Given the description of an element on the screen output the (x, y) to click on. 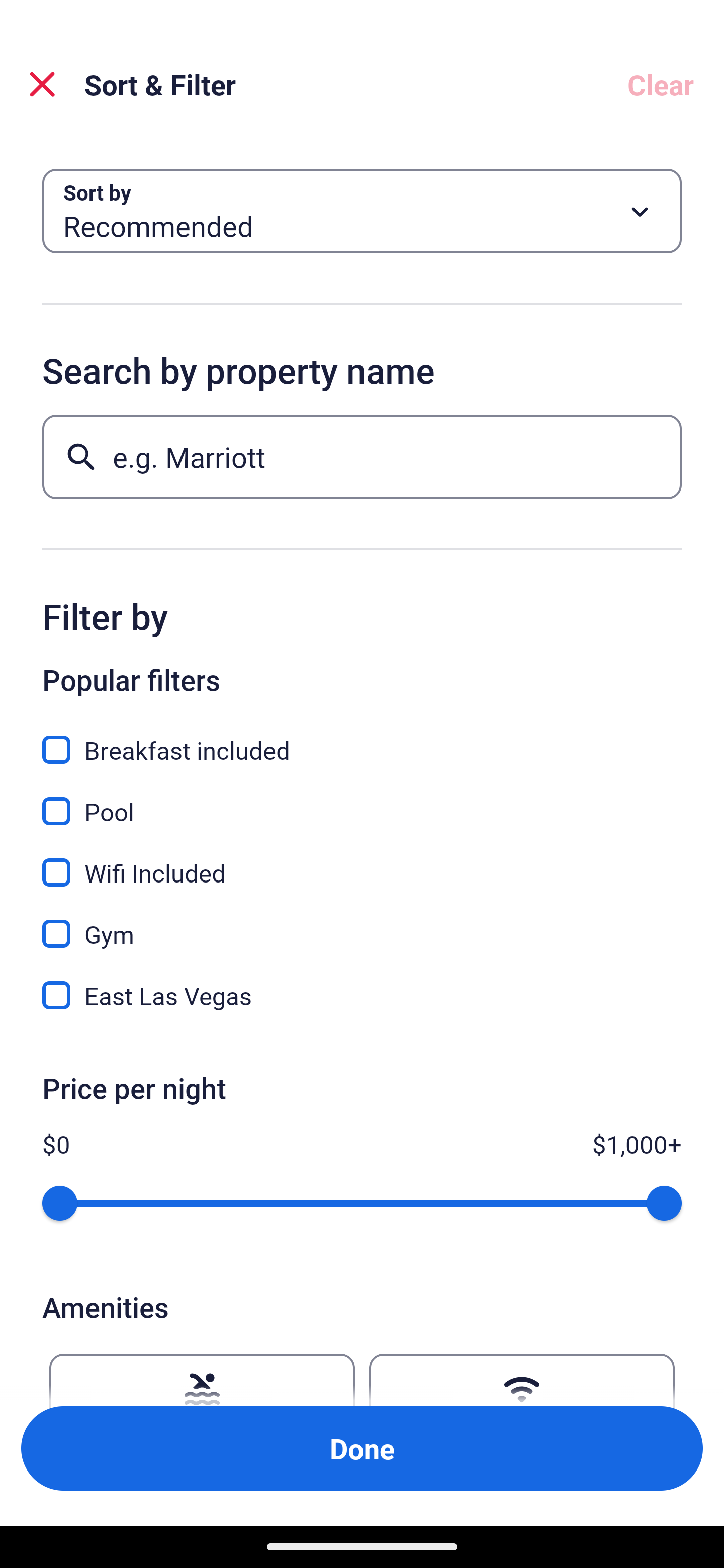
Close Sort and Filter (42, 84)
Clear (660, 84)
Sort by Button Recommended (361, 211)
e.g. Marriott Button (361, 455)
Breakfast included, Breakfast included (361, 738)
Pool, Pool (361, 800)
Wifi Included, Wifi Included (361, 861)
Gym, Gym (361, 922)
East Las Vegas, East Las Vegas (361, 995)
Apply and close Sort and Filter Done (361, 1448)
